Given the description of an element on the screen output the (x, y) to click on. 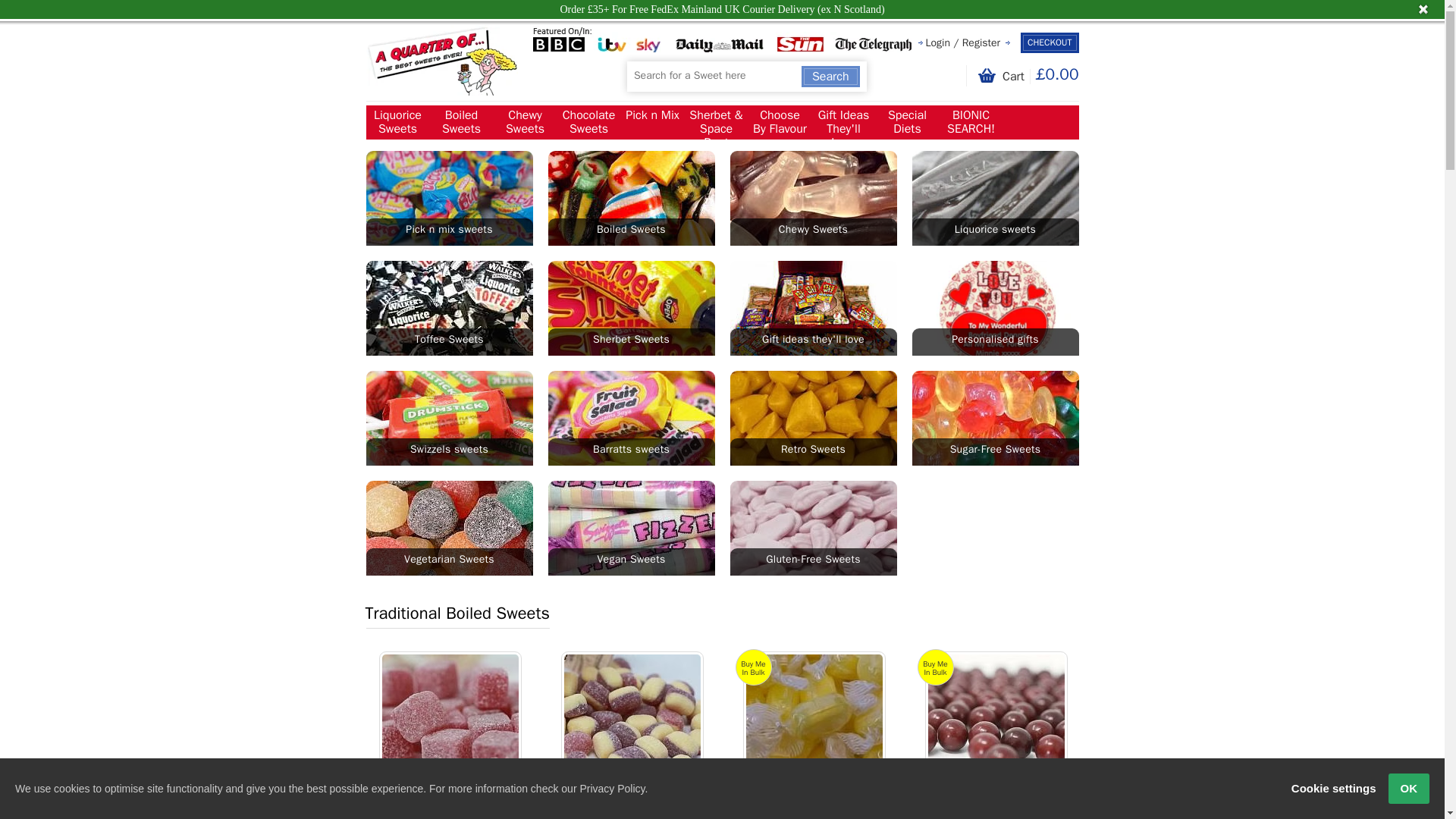
Cola Cubes: The Best You've Ever Tasted (449, 722)
A Quarter Of (440, 60)
Rhubarb and Custard Sweets: The Best Ever! (631, 722)
Sherbet Lemons (813, 722)
Search (831, 76)
Aniseed Balls (995, 722)
CHECKOUT (1049, 42)
